Given the description of an element on the screen output the (x, y) to click on. 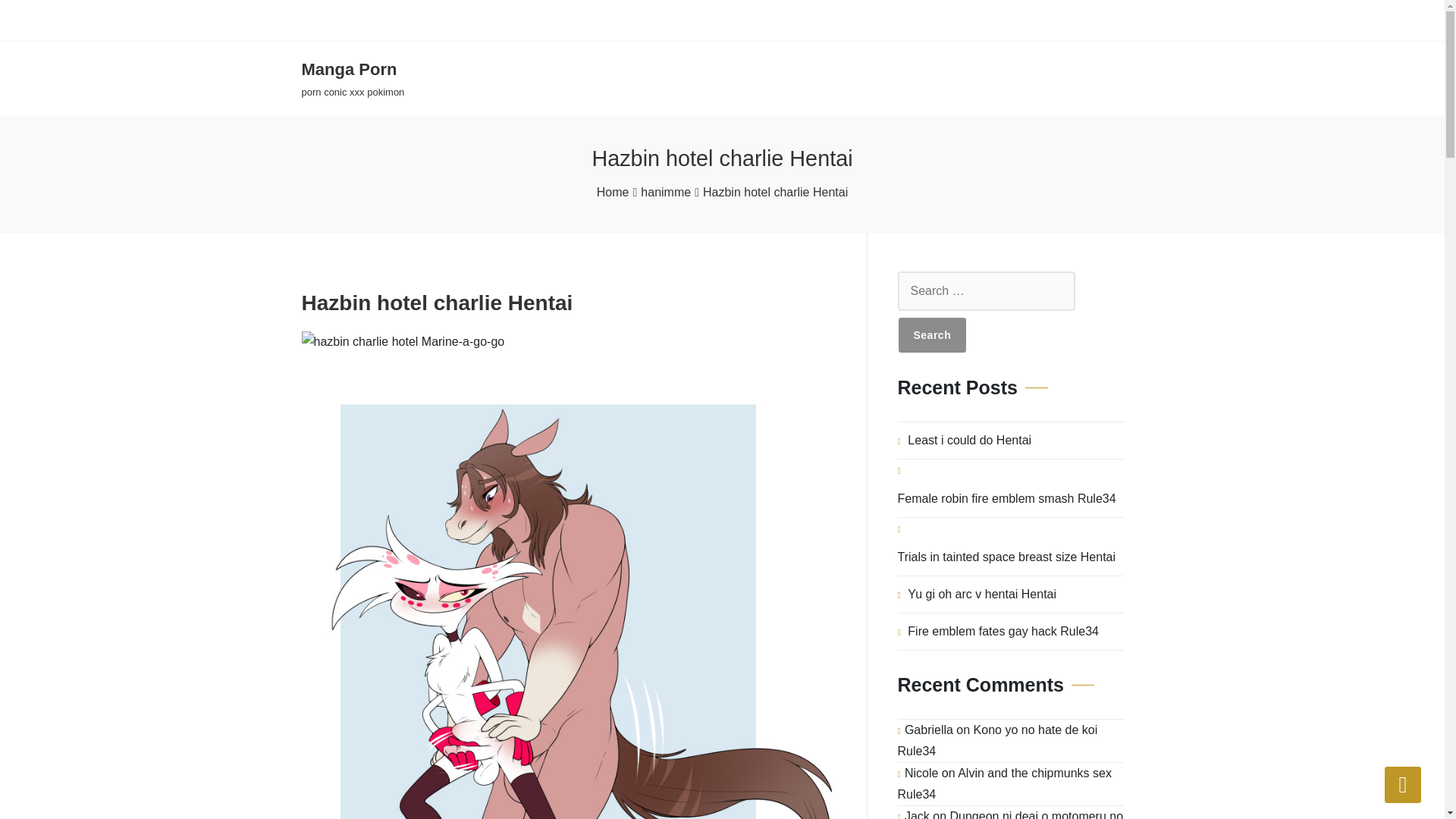
Yu gi oh arc v hentai Hentai (982, 594)
Home (612, 192)
Alvin and the chipmunks sex Rule34 (1005, 783)
Female robin fire emblem smash Rule34 (1007, 498)
Least i could do Hentai (968, 440)
Kono yo no hate de koi Rule34 (997, 740)
Trials in tainted space breast size Hentai (1007, 556)
Back To Top (352, 78)
